Given the description of an element on the screen output the (x, y) to click on. 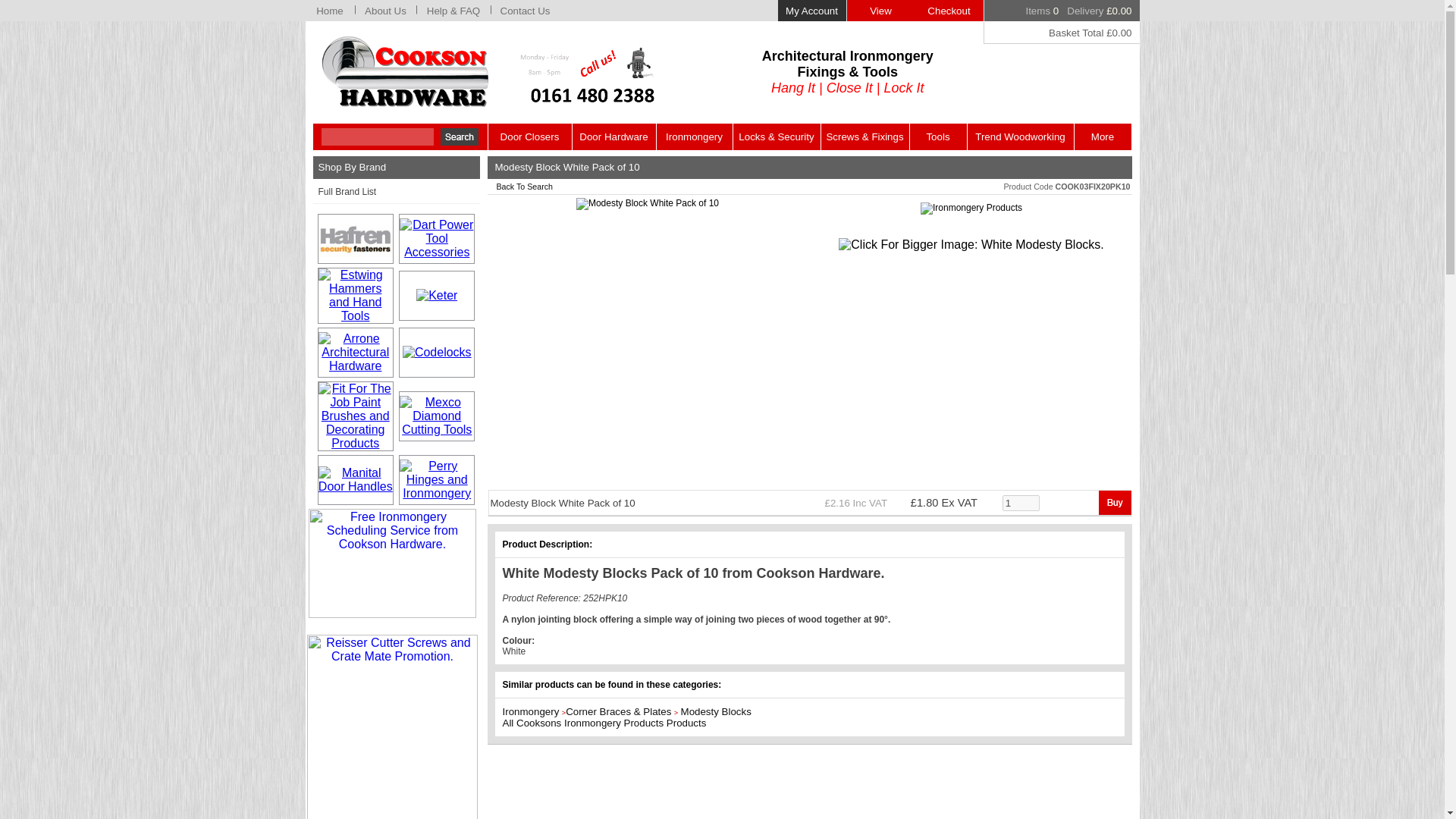
Manital Door Handles (355, 479)
1 (1021, 502)
Mexco Diamond Cutting Tools (436, 415)
Fit For The Job Paint Brushes and Decorating Products (355, 416)
Door Closers (529, 136)
Ironmongery (694, 136)
Perry Hinges and Ironmongery (436, 479)
Estwing Hammers and Hand Tools (355, 295)
Trend Woodworking (1021, 136)
Arrone Architectural Hardware (355, 352)
Keter (436, 295)
Contact Us (525, 10)
Hafren Security Fasteners (355, 238)
My Account (811, 10)
